Given the description of an element on the screen output the (x, y) to click on. 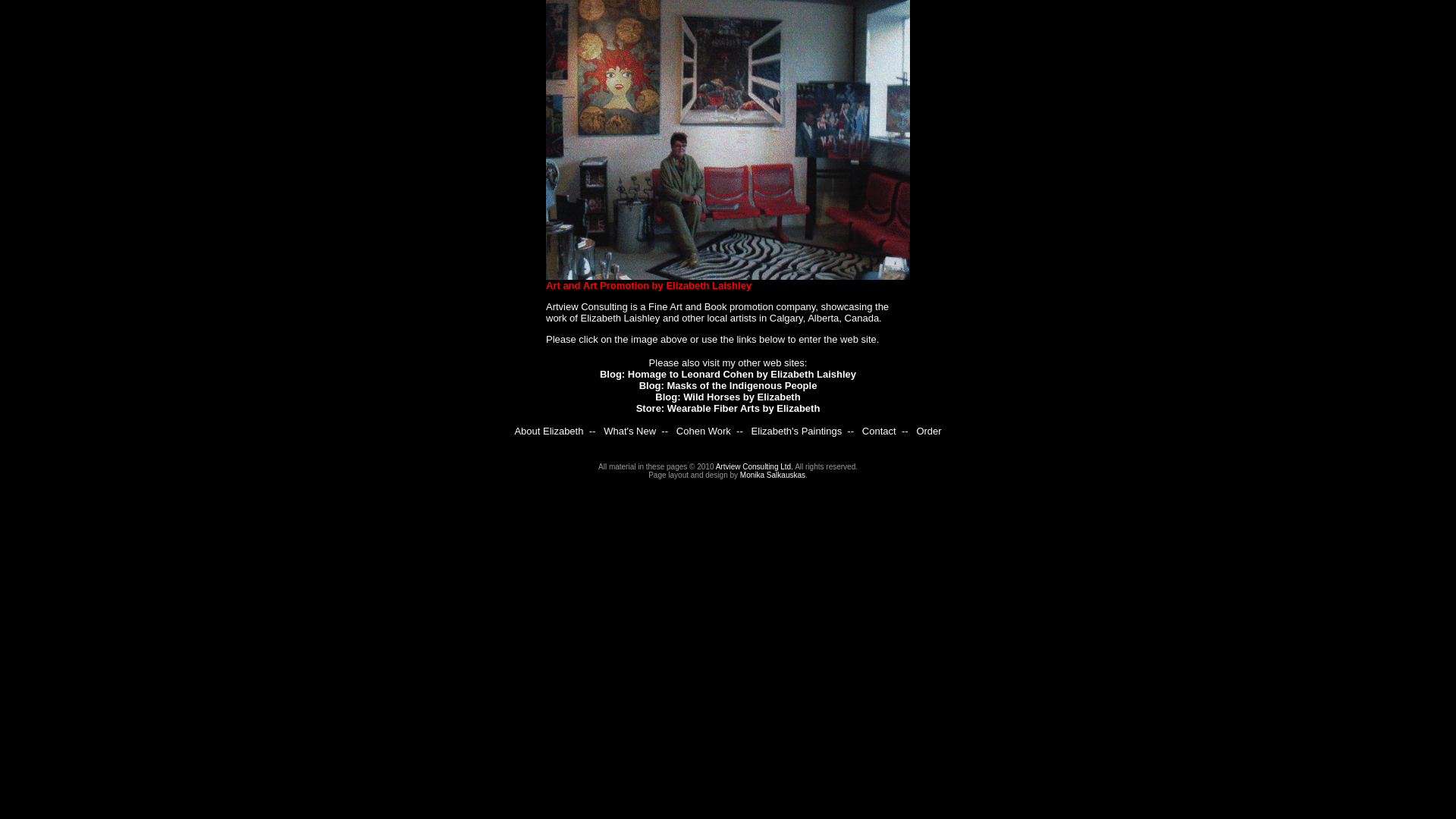
Elizabeth's Paintings Element type: text (796, 430)
Cohen Work Element type: text (703, 430)
Art and Art Promotion by Elizabeth Laishley Element type: text (648, 285)
Blog: Homage to Leonard Cohen by Elizabeth Laishley Element type: text (727, 373)
About Elizabeth Element type: text (548, 430)
Order Element type: text (928, 430)
Artview Consulting Ltd. Element type: text (754, 466)
Monika Salkauskas Element type: text (772, 474)
What's New Element type: text (629, 430)
Contact Element type: text (879, 430)
Blog: Masks of the Indigenous People Element type: text (728, 385)
Blog: Wild Horses by Elizabeth Element type: text (727, 396)
Store: Wearable Fiber Arts by Elizabeth Element type: text (728, 408)
